Given the description of an element on the screen output the (x, y) to click on. 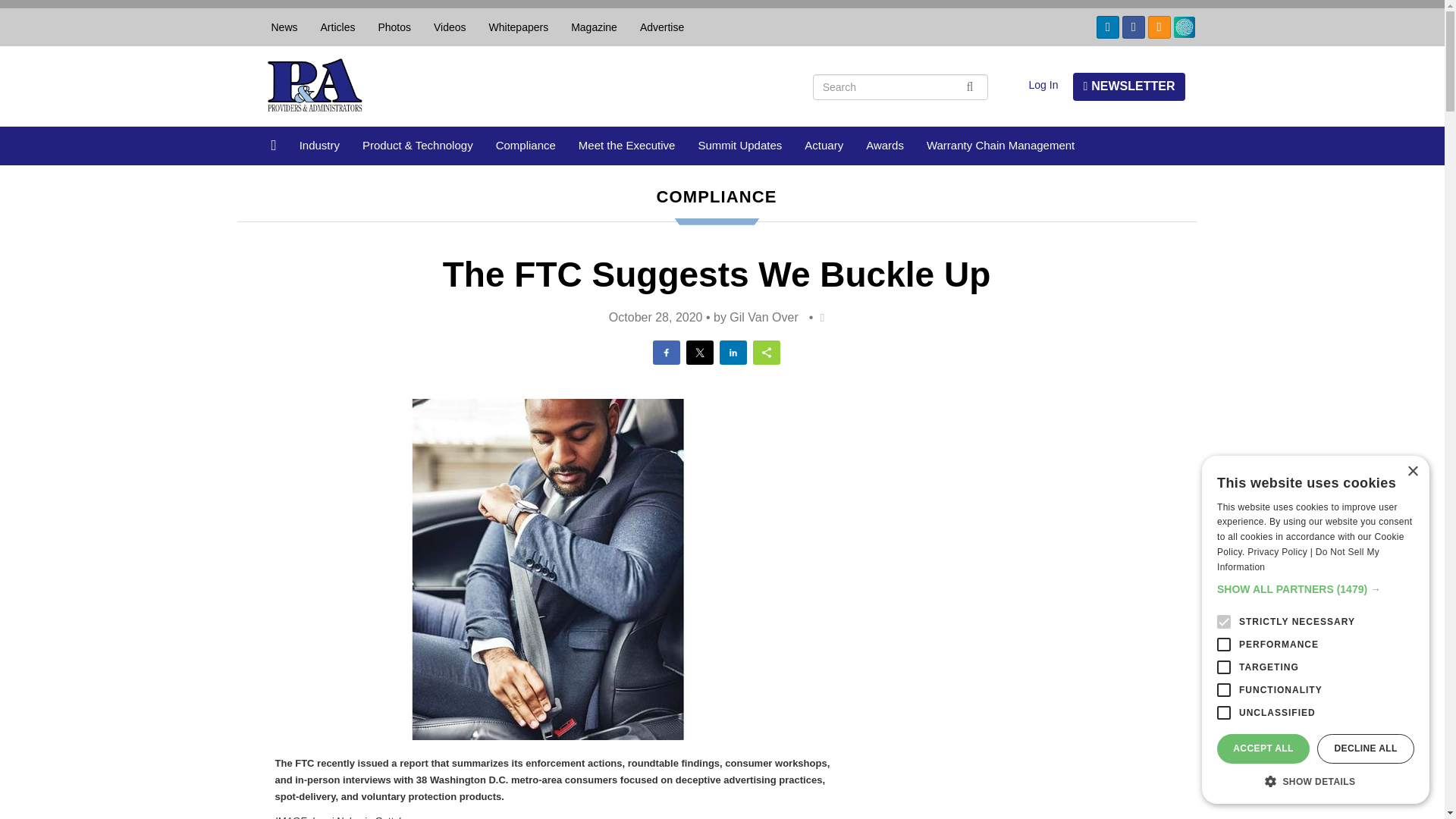
News (283, 26)
Videos (449, 26)
Magazine (593, 26)
Articles (337, 26)
Whitepapers (518, 26)
Advertise (661, 26)
Photos (394, 26)
